Given the description of an element on the screen output the (x, y) to click on. 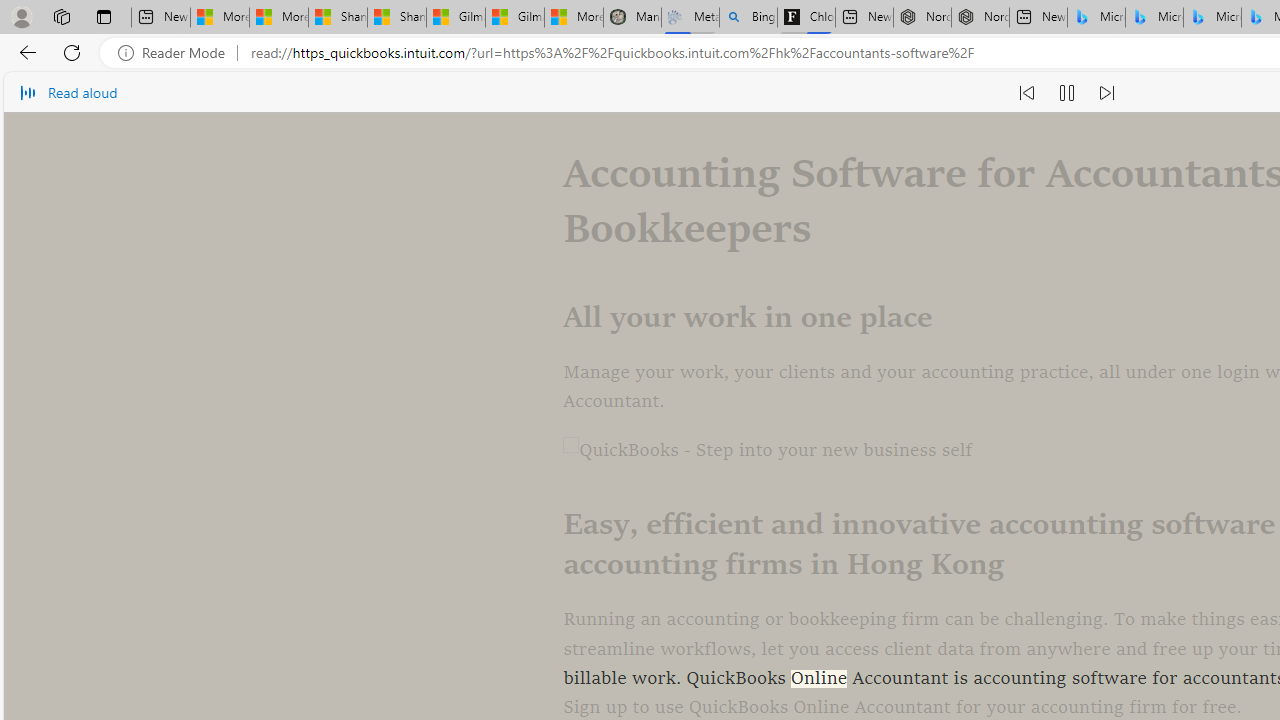
Read next paragraph (1105, 92)
Pause read aloud (Ctrl+Shift+U) (1065, 92)
Microsoft Bing Travel - Stays in Bangkok, Bangkok, Thailand (1154, 17)
Read previous paragraph (1026, 92)
